Given the description of an element on the screen output the (x, y) to click on. 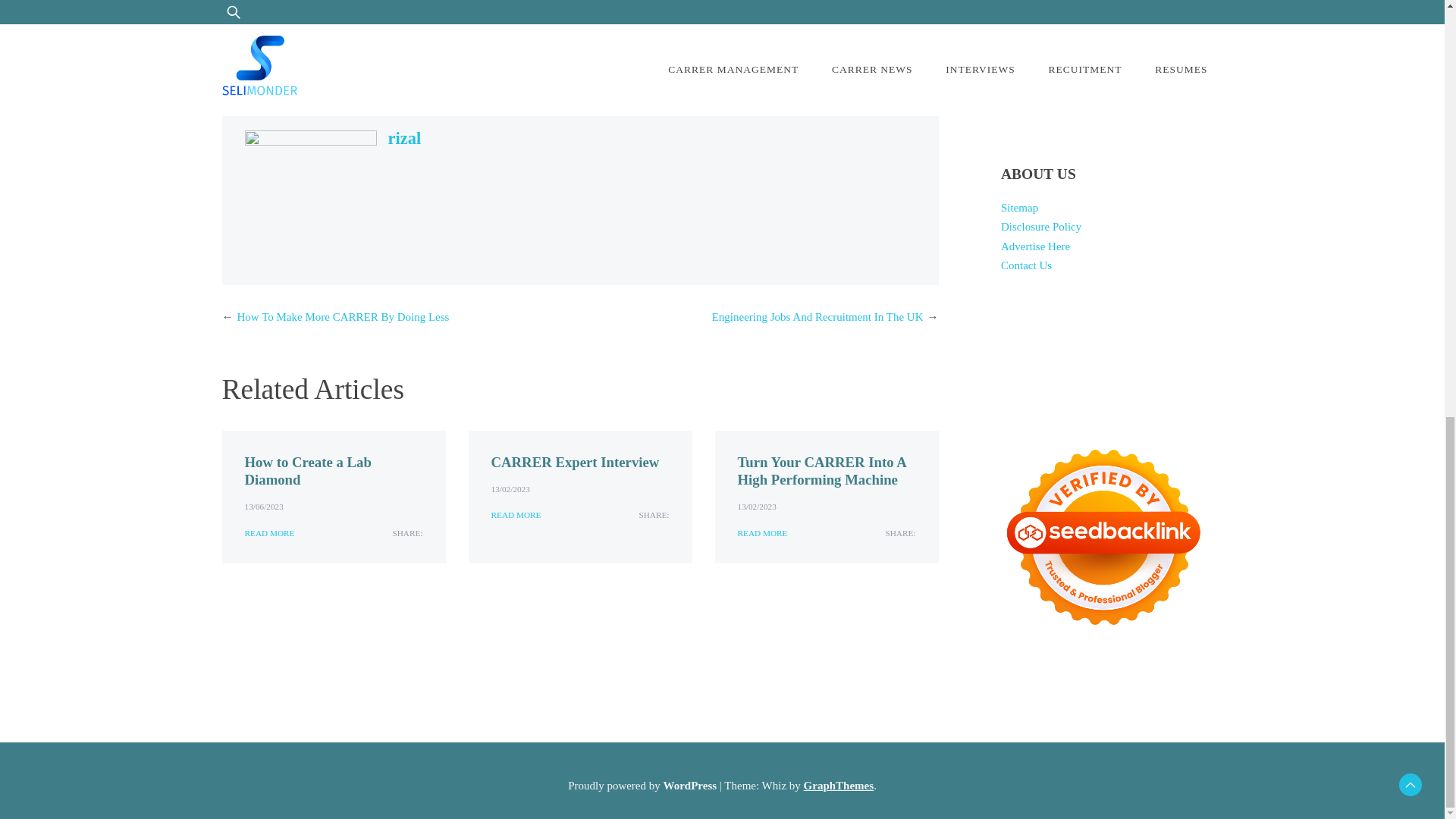
READ MORE (269, 533)
rizal (405, 138)
READ MORE (761, 533)
Engineering Jobs And Recruitment In The UK (817, 316)
CARRER Expert Interview (575, 462)
How to Create a Lab Diamond (307, 470)
Seedbacklink (1103, 536)
READ MORE (516, 514)
Turn Your CARRER Into A High Performing Machine (820, 470)
How To Make More CARRER By Doing Less (341, 316)
